Given the description of an element on the screen output the (x, y) to click on. 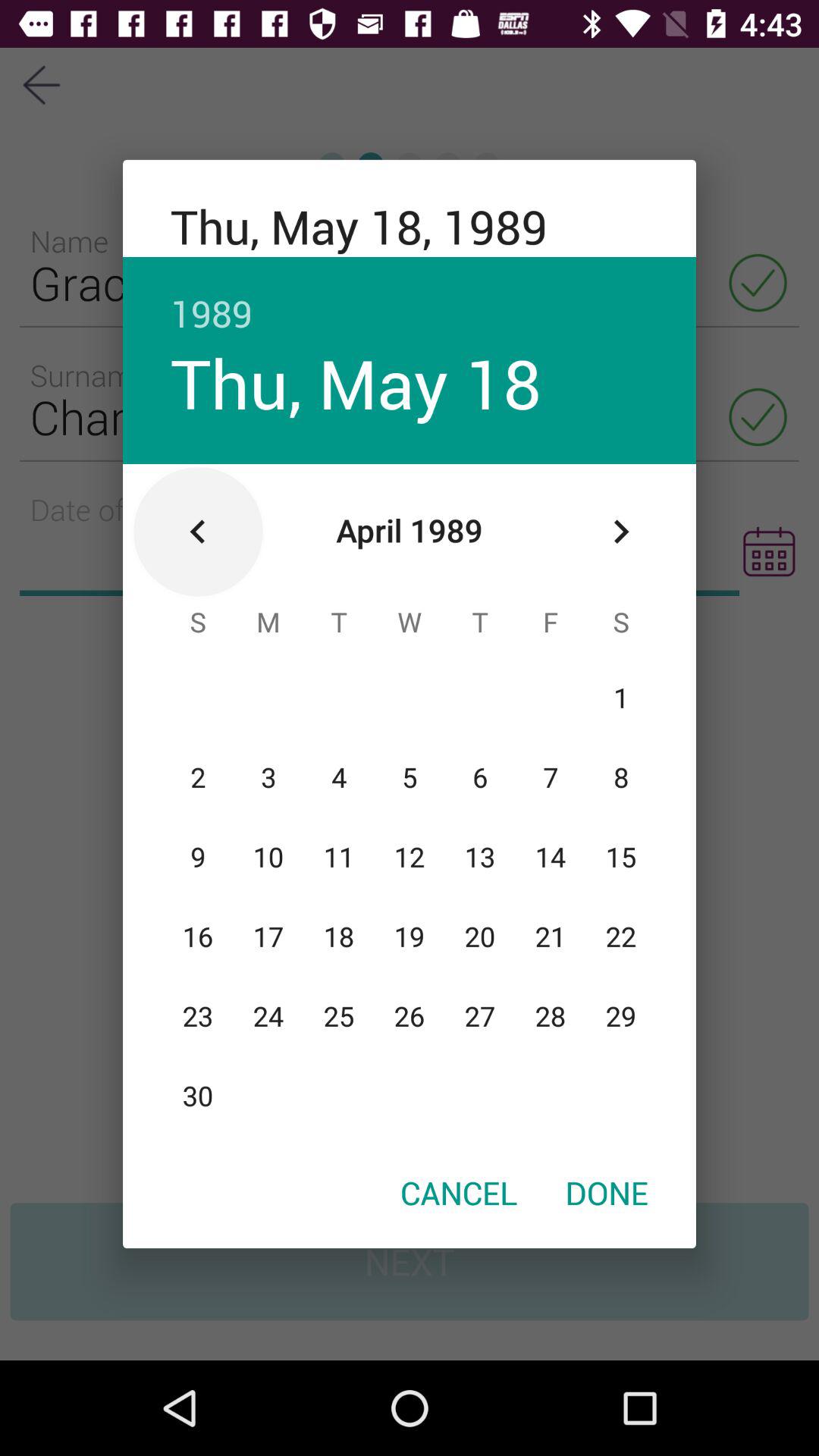
tap item to the right of the cancel (606, 1192)
